Given the description of an element on the screen output the (x, y) to click on. 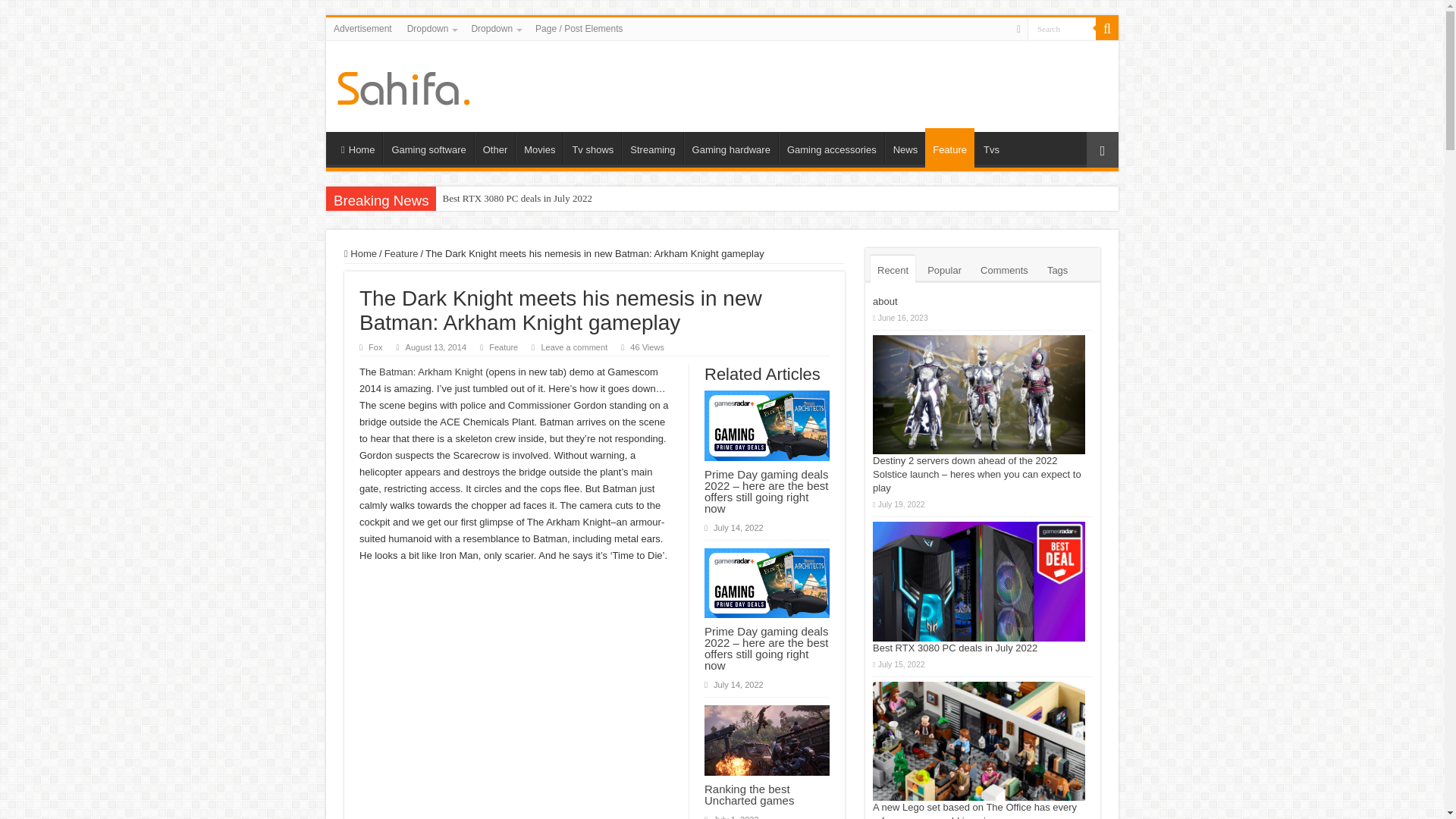
Search (1107, 28)
Movies (538, 147)
Gaming software (427, 147)
Search (1061, 28)
Gaming accessories (830, 147)
Dropdown (495, 28)
Dropdown (431, 28)
Advertisement (362, 28)
Game News (403, 85)
Streaming (651, 147)
Best RTX 3080 PC deals in July 2022 (515, 198)
News (905, 147)
Search (1061, 28)
Home (357, 147)
Gaming hardware (730, 147)
